Given the description of an element on the screen output the (x, y) to click on. 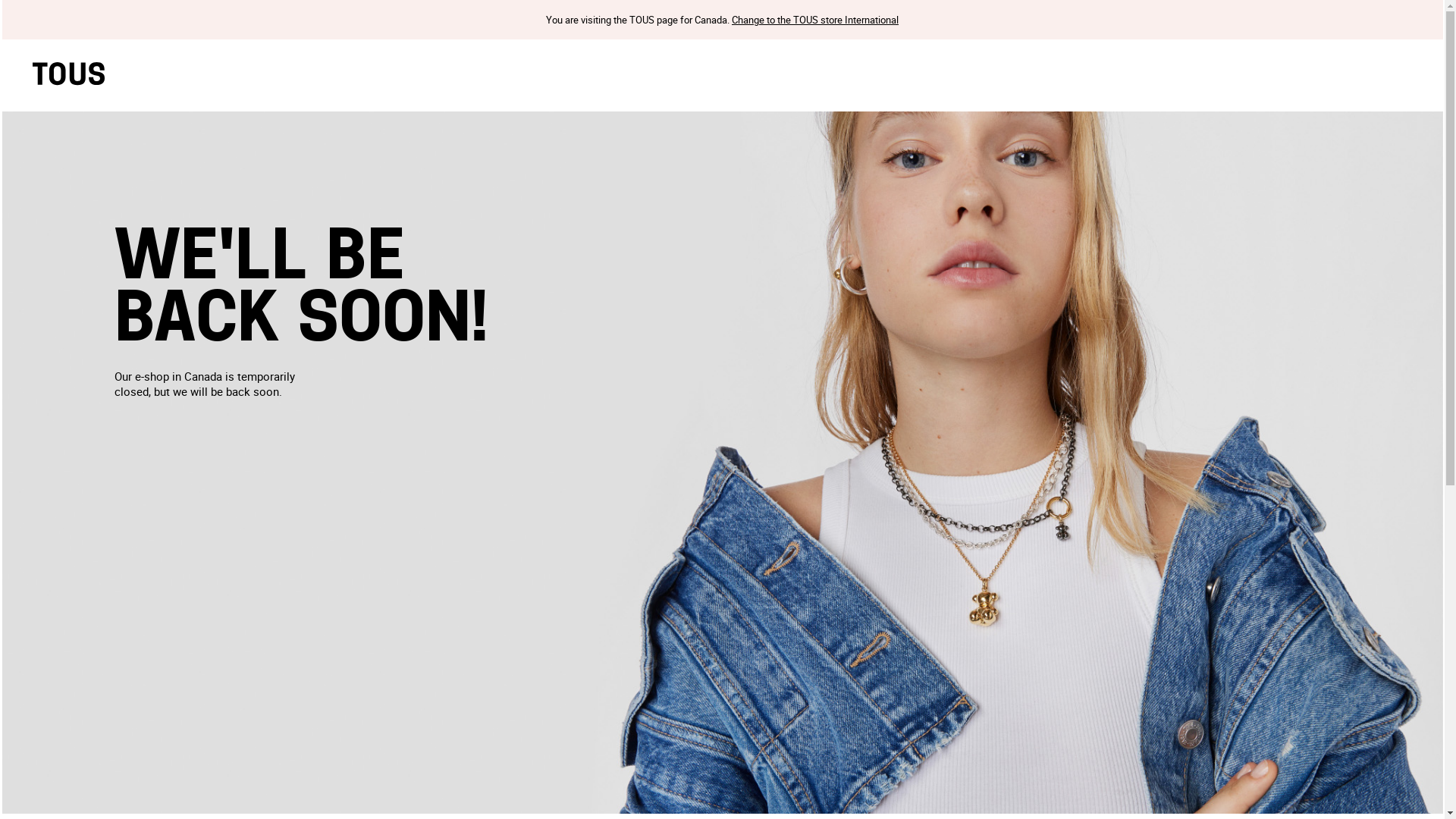
Change to the TOUS store International (301, 289)
